Given the description of an element on the screen output the (x, y) to click on. 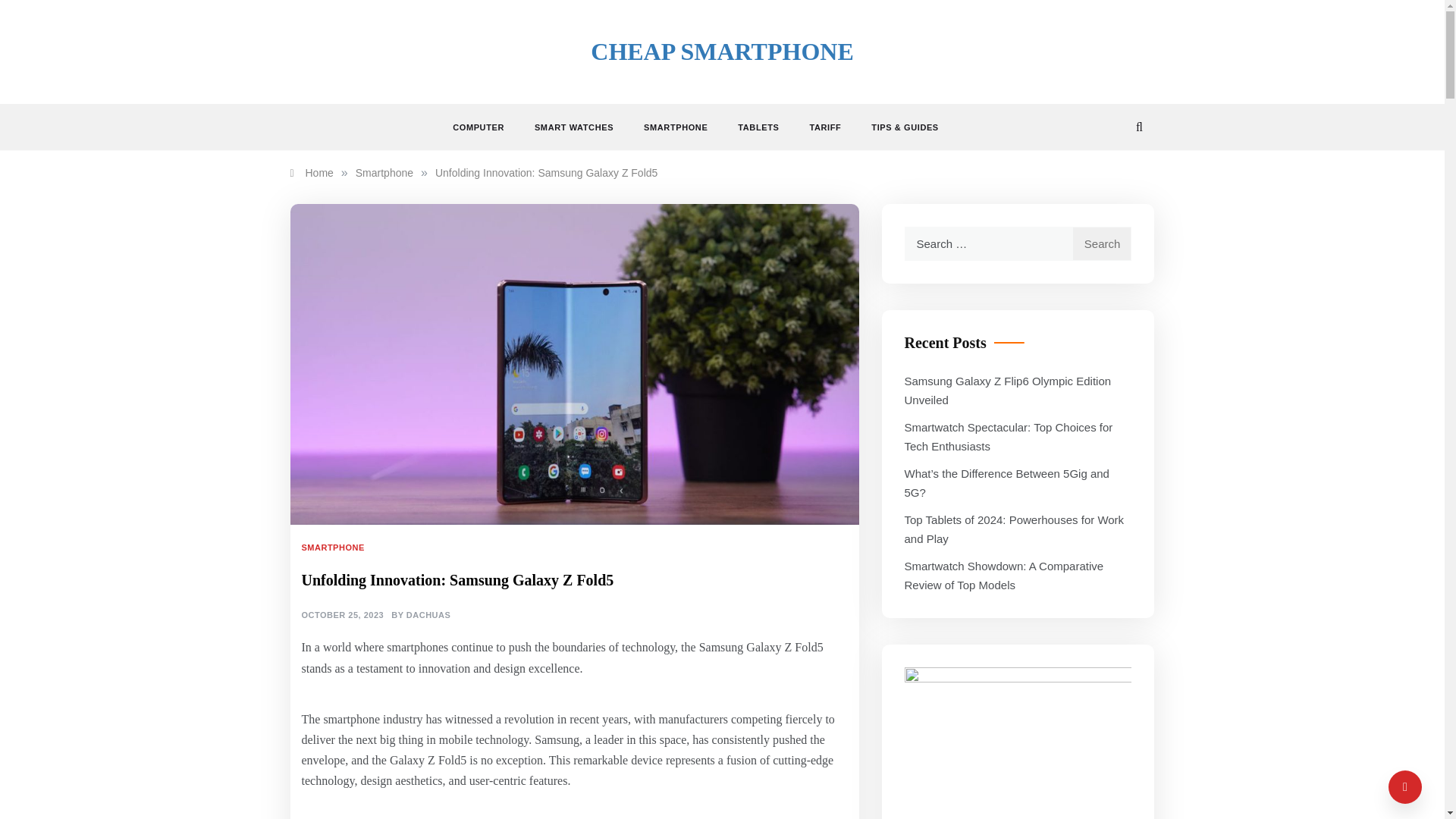
OCTOBER 25, 2023 (342, 615)
Smartphone (384, 173)
TARIFF (824, 126)
Smartwatch Showdown: A Comparative Review of Top Models (1003, 575)
Search (1101, 243)
COMPUTER (485, 126)
Samsung Galaxy Z Flip6 Olympic Edition Unveiled (1007, 390)
Unfolding Innovation: Samsung Galaxy Z Fold5 (546, 173)
Go to Top (1405, 786)
CHEAP SMARTPHONE (722, 51)
SMART WATCHES (573, 126)
SMARTPHONE (334, 547)
Search (1101, 243)
TABLETS (757, 126)
Search (1101, 243)
